Given the description of an element on the screen output the (x, y) to click on. 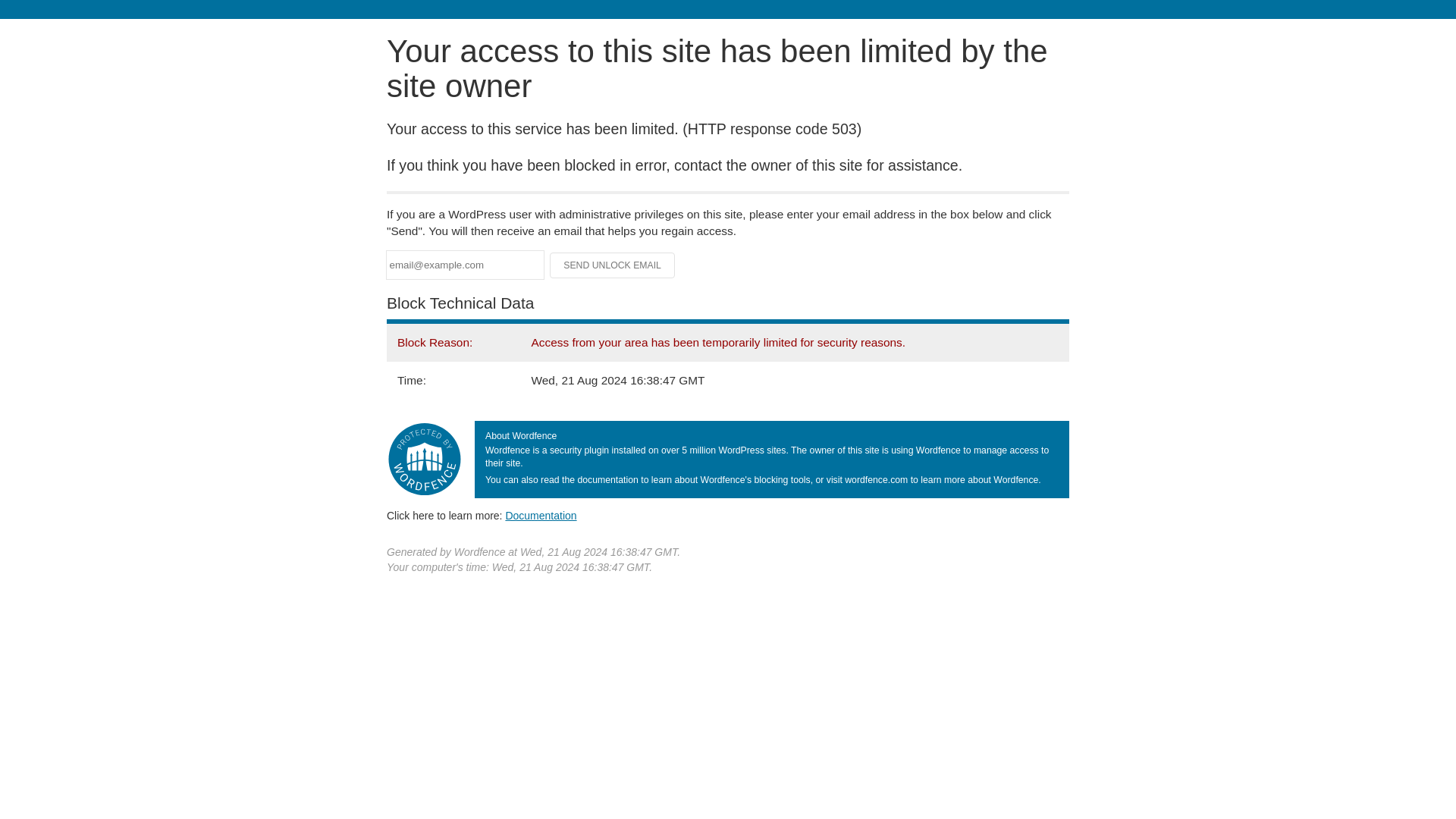
Documentation (540, 515)
Send Unlock Email (612, 265)
Send Unlock Email (612, 265)
